Given the description of an element on the screen output the (x, y) to click on. 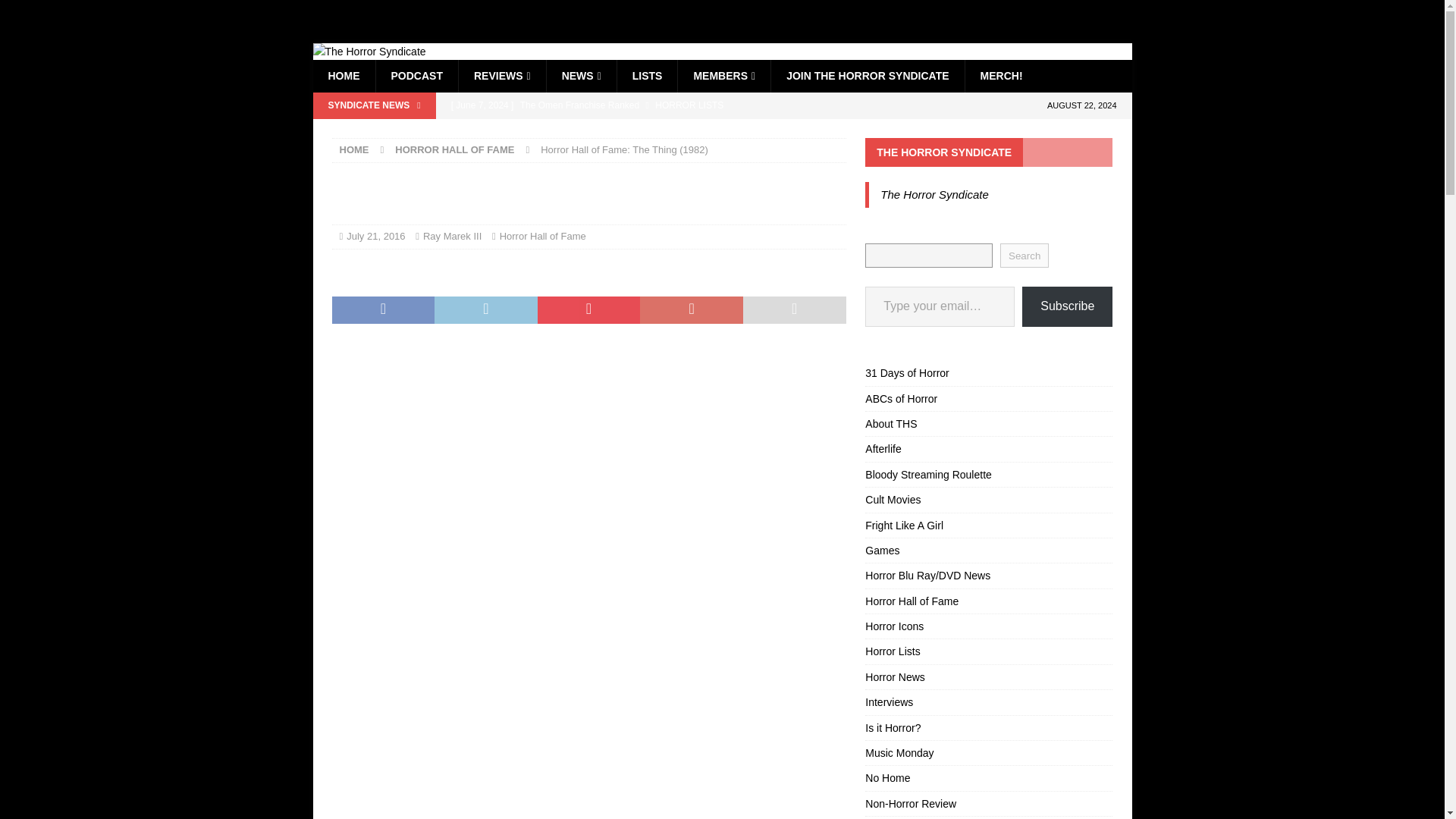
REVIEWS (502, 75)
July 21, 2016 (375, 235)
The Omen Franchise Ranked (644, 104)
Ray Marek III (452, 235)
MERCH! (1000, 75)
JOIN THE HORROR SYNDICATE (866, 75)
MEMBERS (723, 75)
NEWS (580, 75)
HOME (354, 149)
PODCAST (415, 75)
